Given the description of an element on the screen output the (x, y) to click on. 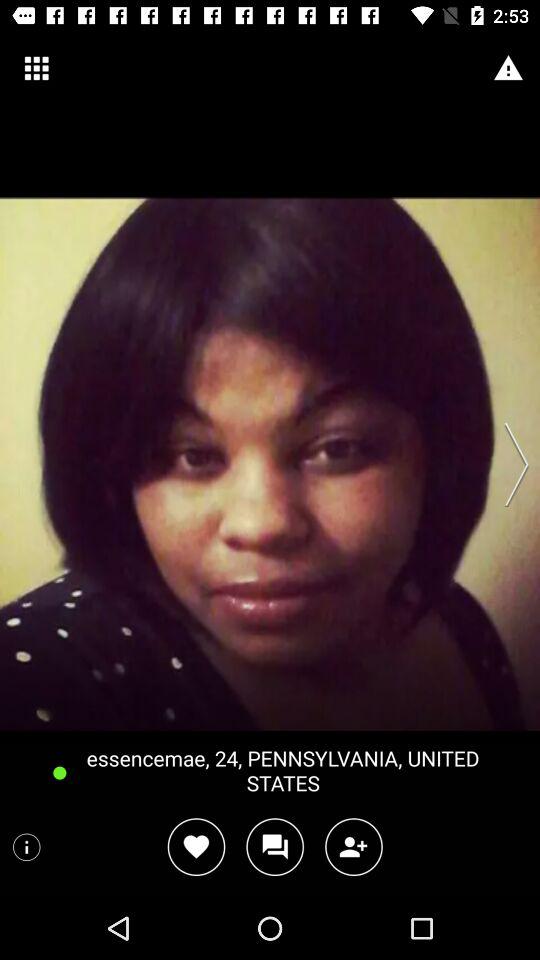
add to favorites (196, 846)
